Given the description of an element on the screen output the (x, y) to click on. 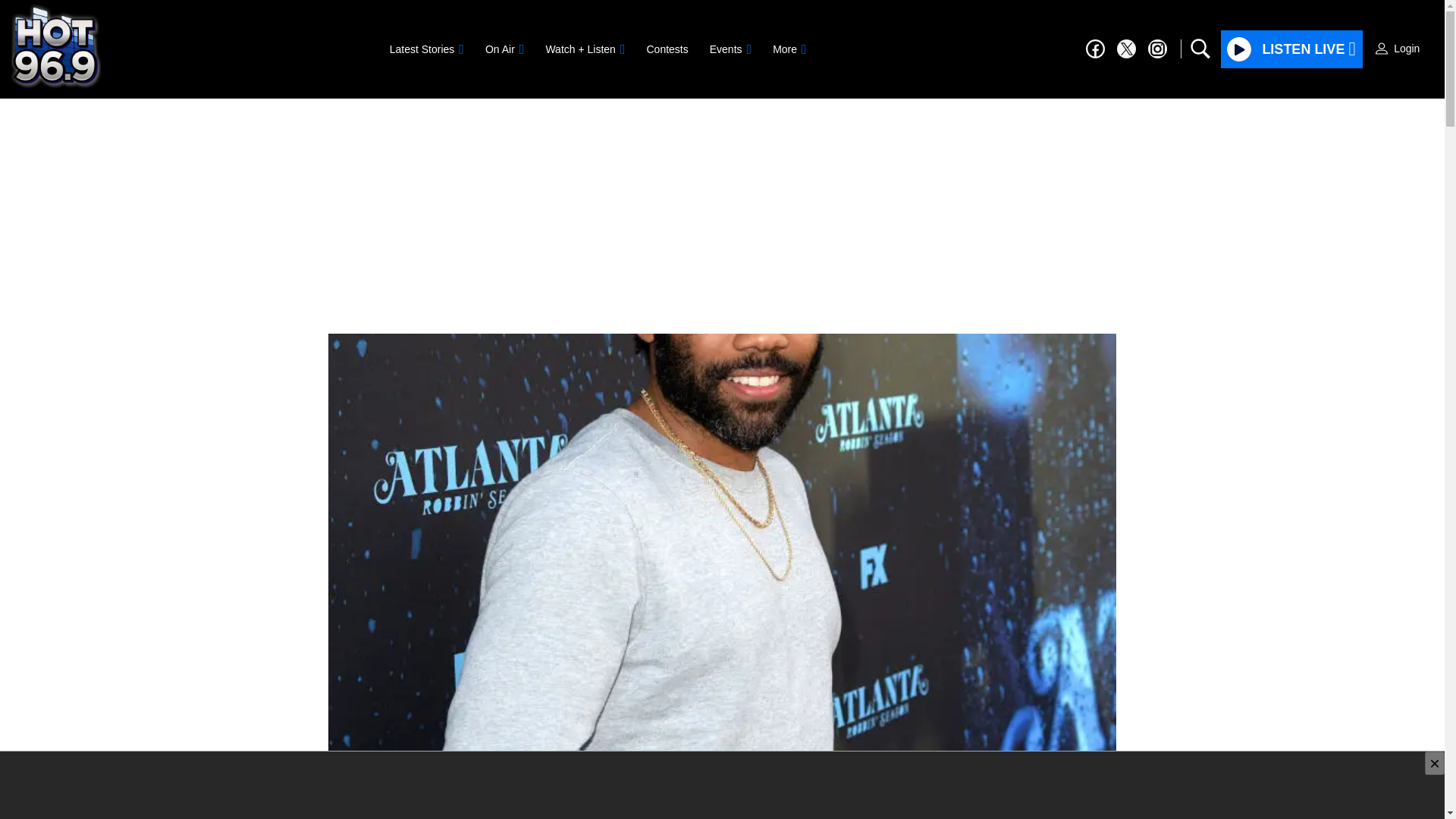
Close AdCheckmark indicating ad close (1434, 763)
Events (729, 49)
Latest Stories (426, 49)
On Air (504, 49)
Contests (666, 49)
